Given the description of an element on the screen output the (x, y) to click on. 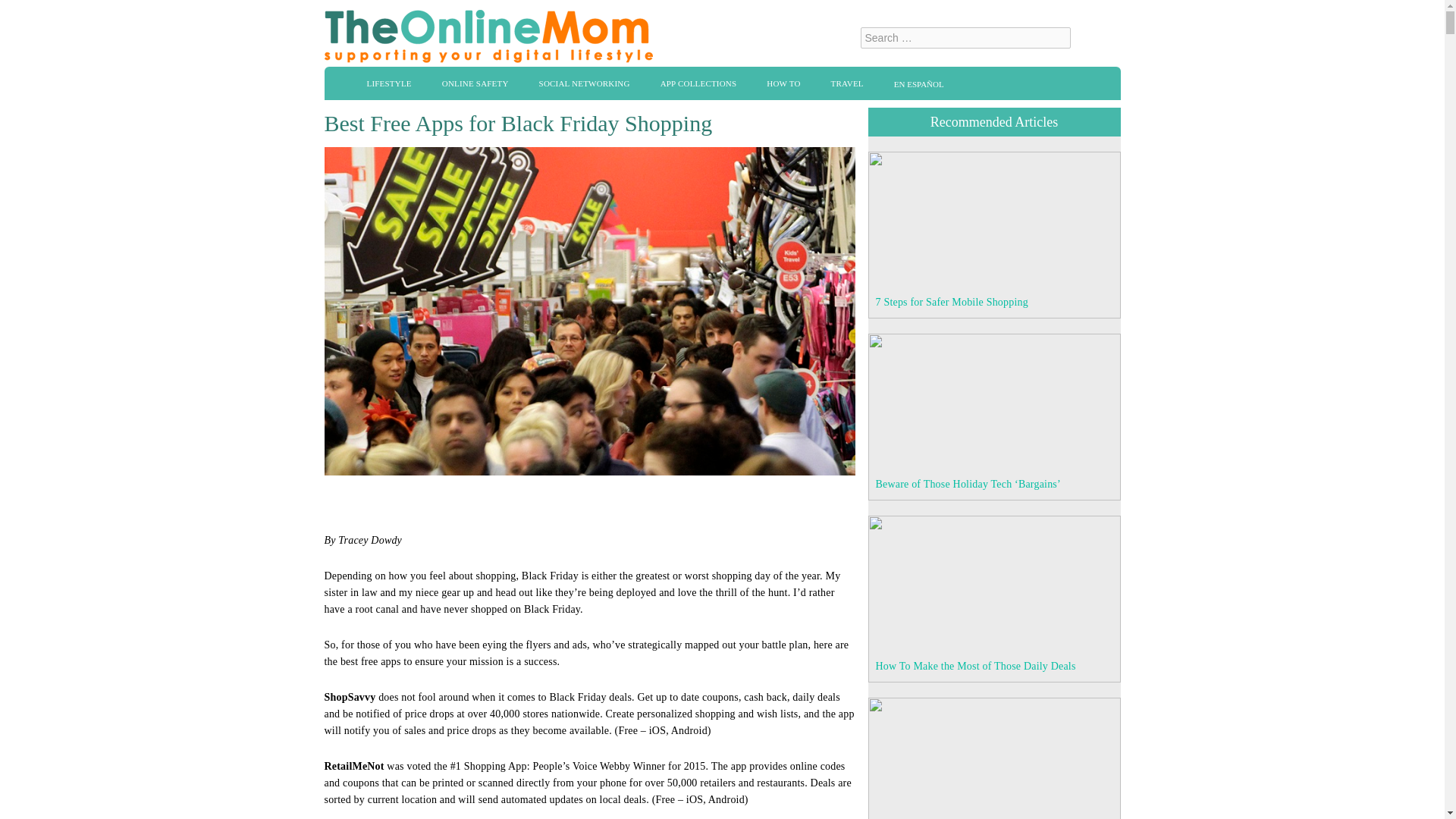
HOME (340, 82)
APP COLLECTIONS (698, 82)
TRAVEL (847, 82)
HOW TO (783, 82)
LIFESTYLE (389, 82)
SOCIAL NETWORKING (584, 82)
ONLINE SAFETY (475, 82)
Search (1093, 38)
Search (1093, 38)
Search (1093, 38)
